Given the description of an element on the screen output the (x, y) to click on. 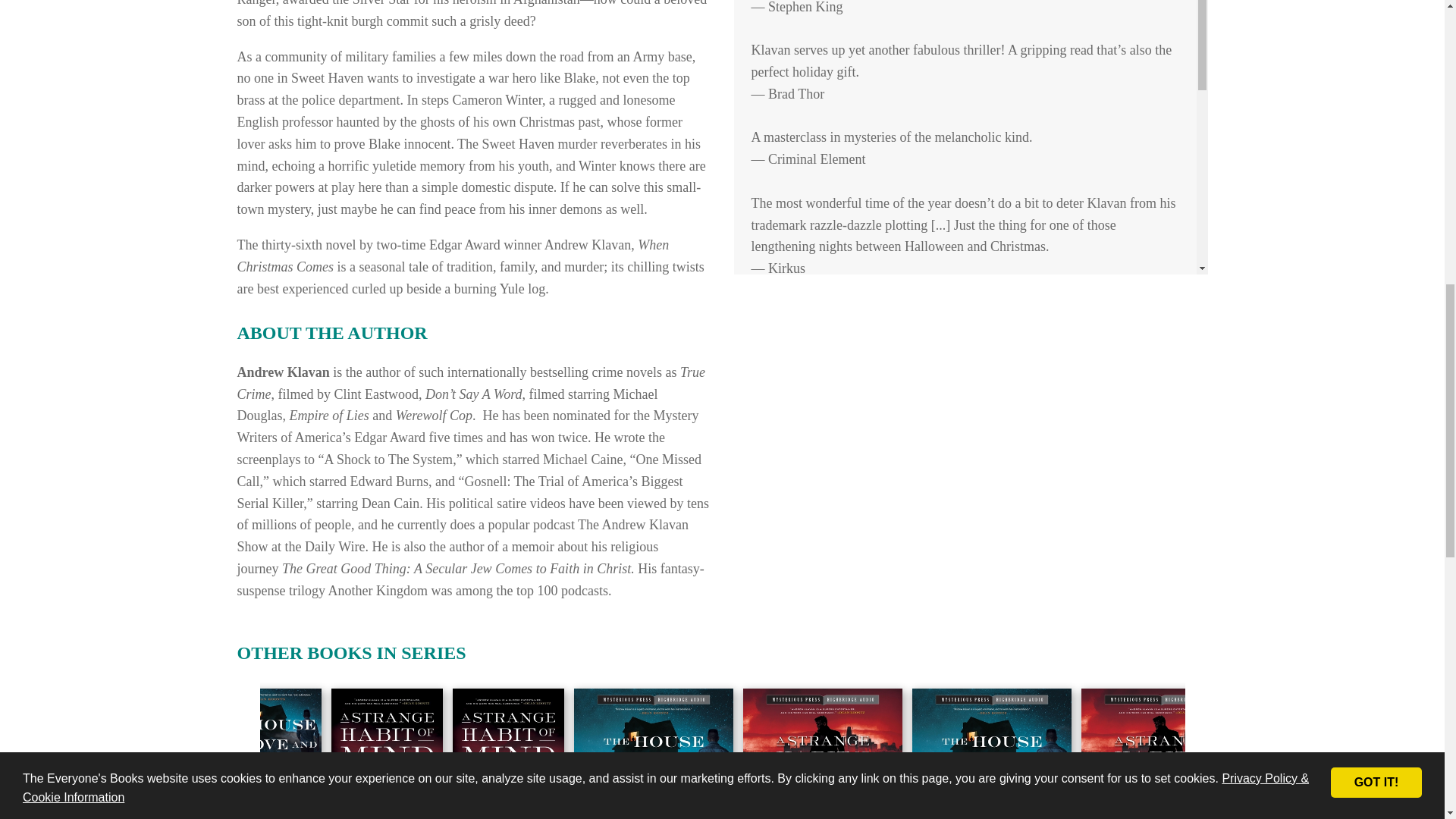
GOT IT! (1376, 55)
